Given the description of an element on the screen output the (x, y) to click on. 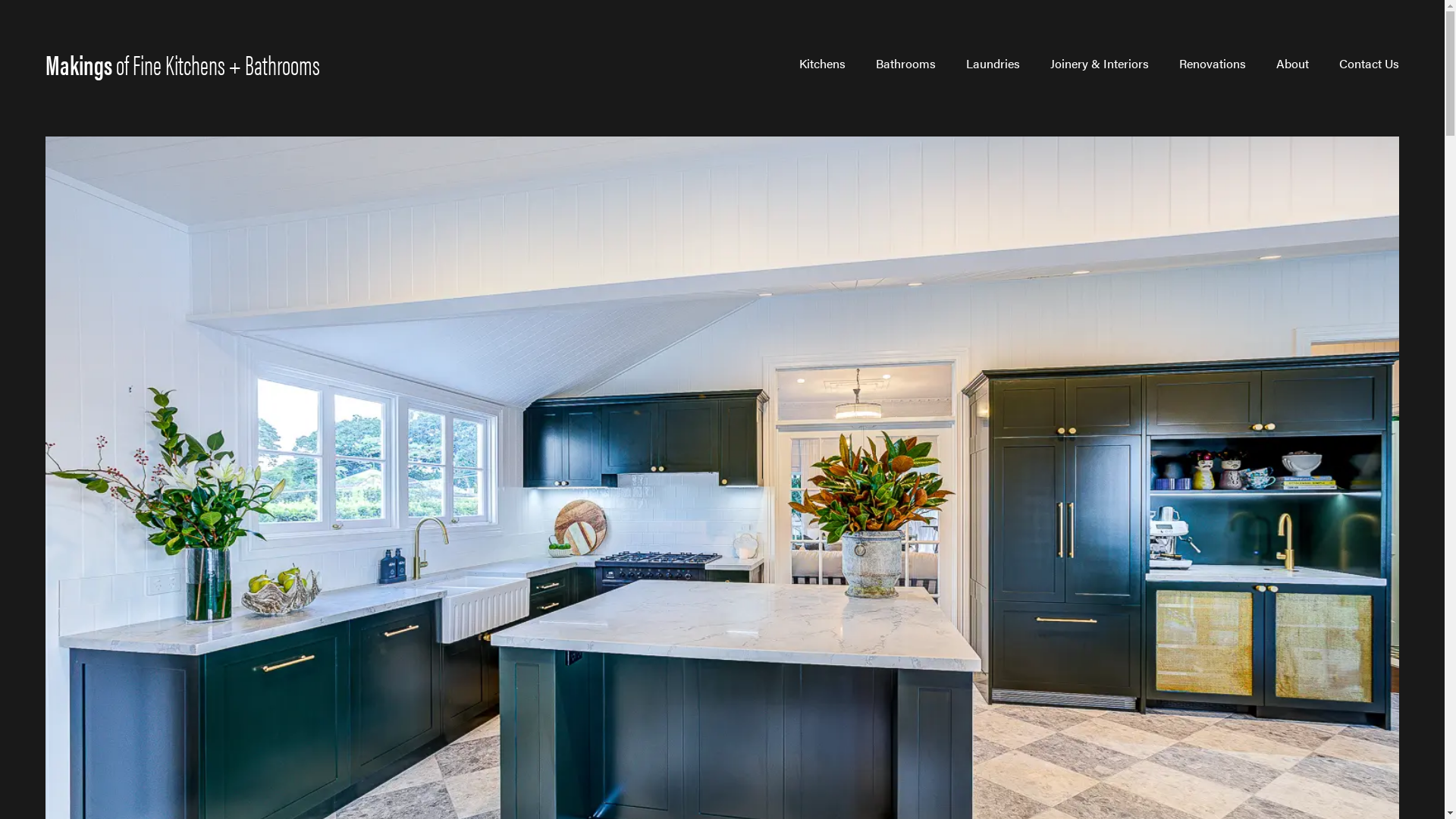
Makings of Fine Kitchens + Bathrooms Element type: text (182, 63)
About Element type: text (1292, 63)
Bathrooms Element type: text (905, 63)
Laundries Element type: text (992, 63)
Contact Us Element type: text (1369, 63)
Joinery & Interiors Element type: text (1099, 63)
Kitchens Element type: text (822, 63)
Renovations Element type: text (1212, 63)
